Given the description of an element on the screen output the (x, y) to click on. 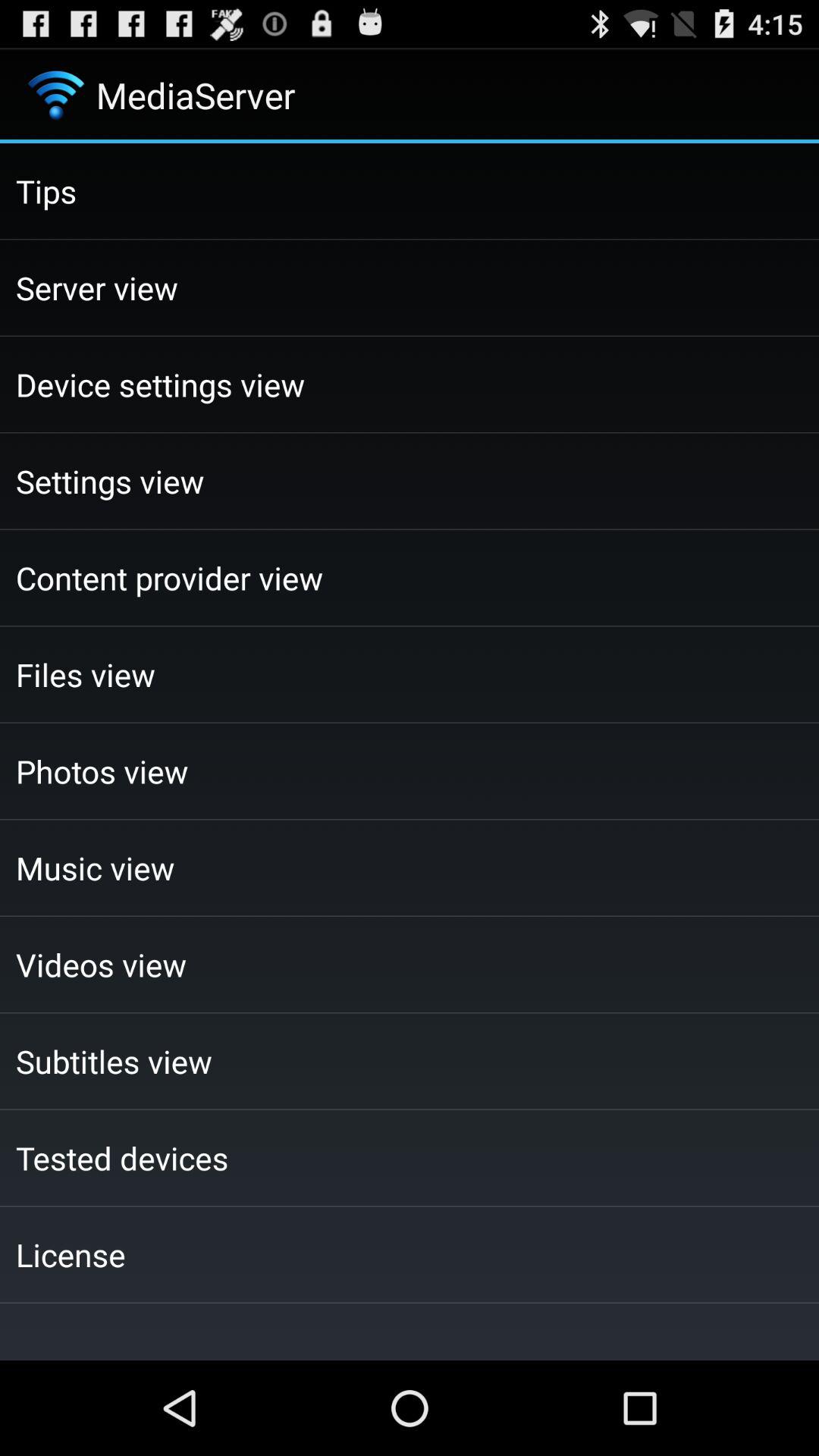
open server view (409, 287)
